Given the description of an element on the screen output the (x, y) to click on. 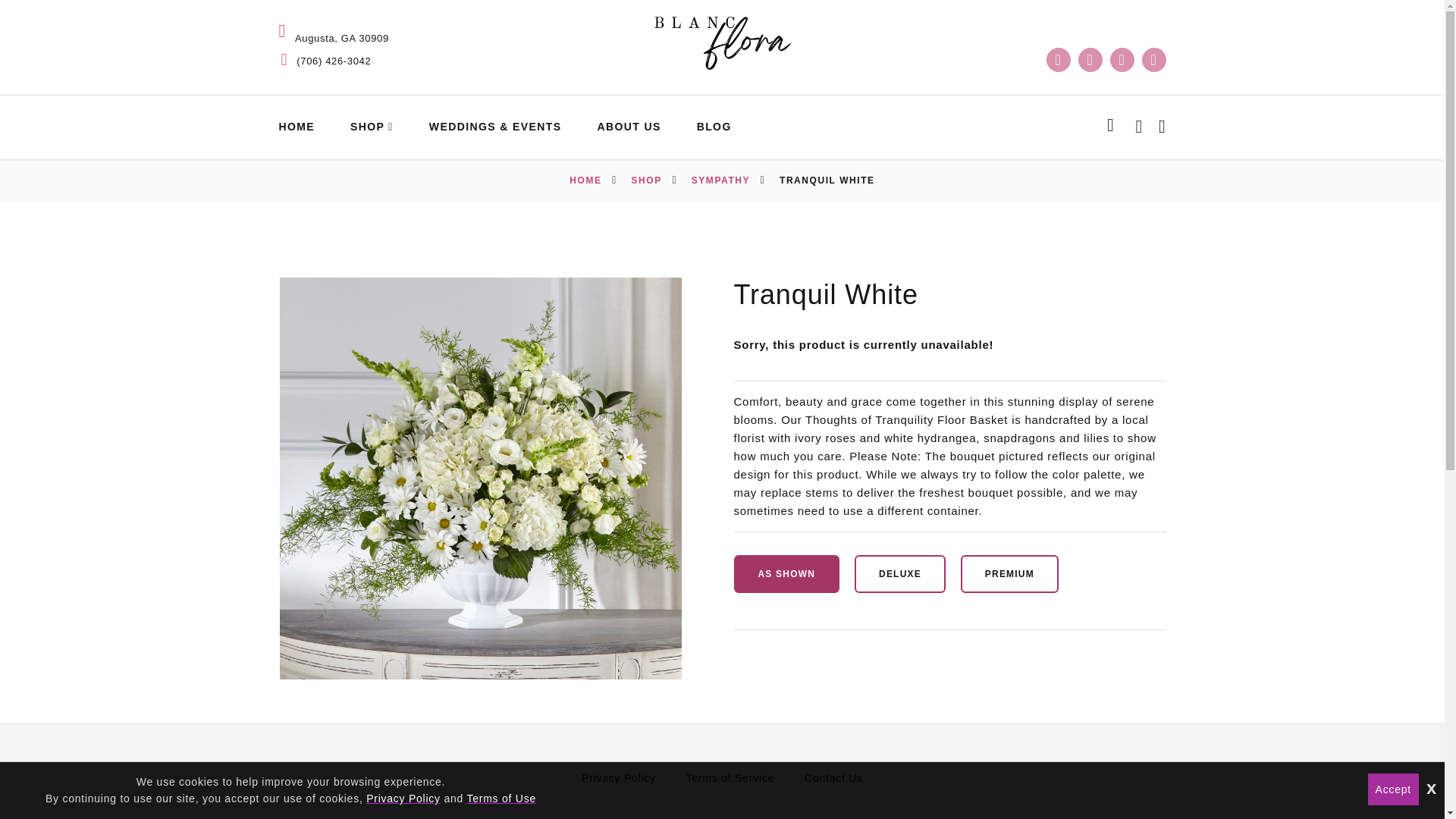
Contact Us (834, 777)
Facebook (1058, 59)
SYMPATHY (720, 180)
Terms of Service (729, 777)
ABOUT US (628, 126)
Instagram (1090, 59)
SHOP (646, 180)
Pinterest (1121, 59)
HOME (585, 180)
Privacy Policy (618, 777)
